Given the description of an element on the screen output the (x, y) to click on. 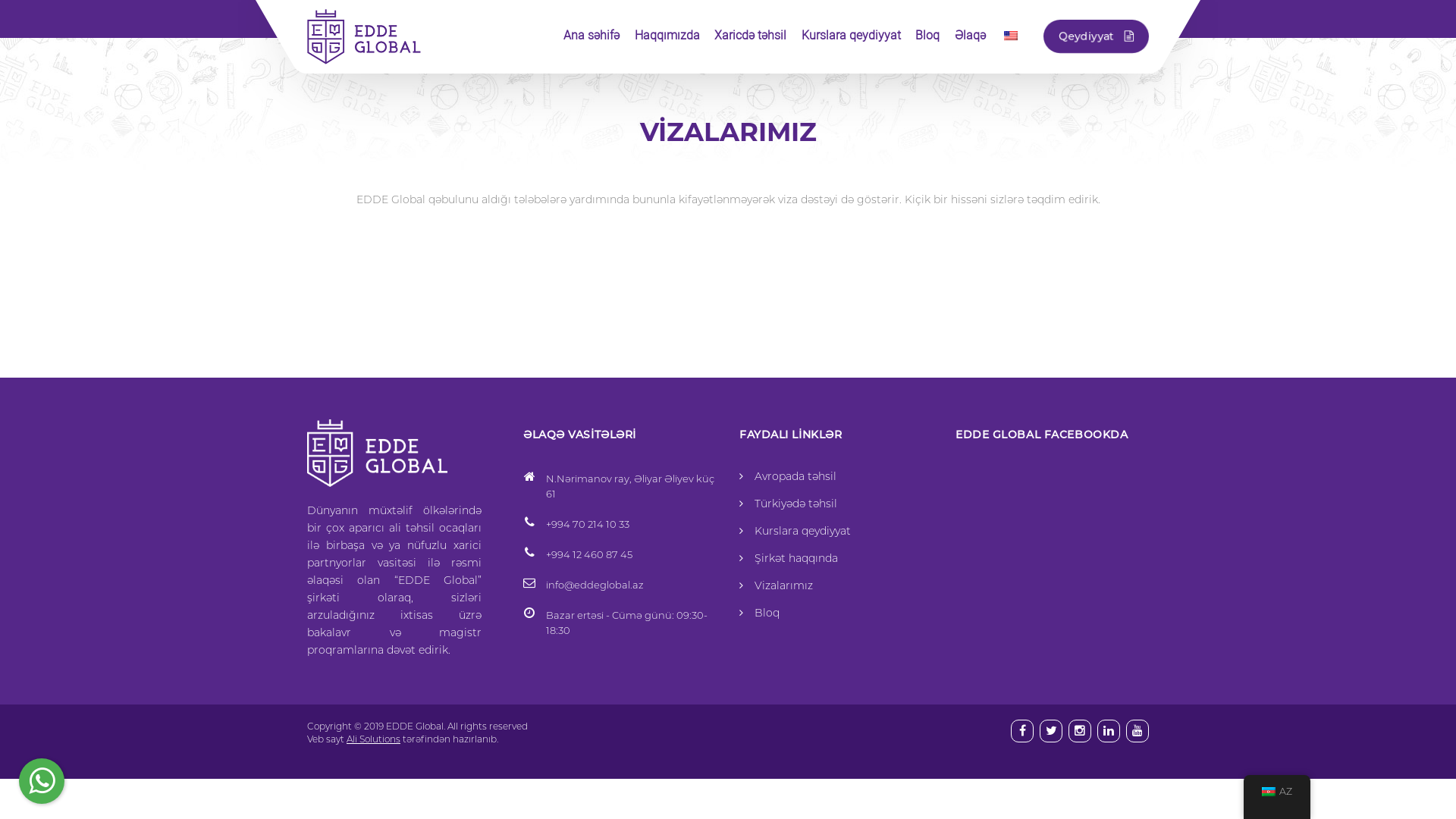
Kurslara qeydiyyat Element type: text (850, 35)
Ali Solutions Element type: text (373, 738)
+994 12 460 87 45 Element type: text (589, 554)
Bloq Element type: text (927, 35)
Azerbaijani Element type: hover (1268, 791)
Bloq Element type: text (766, 612)
+994 70 214 10 33 Element type: text (587, 523)
English Element type: hover (1010, 35)
info@eddeglobal.az Element type: text (594, 584)
Kurslara qeydiyyat Element type: text (802, 530)
AZ Element type: text (1276, 791)
